Given the description of an element on the screen output the (x, y) to click on. 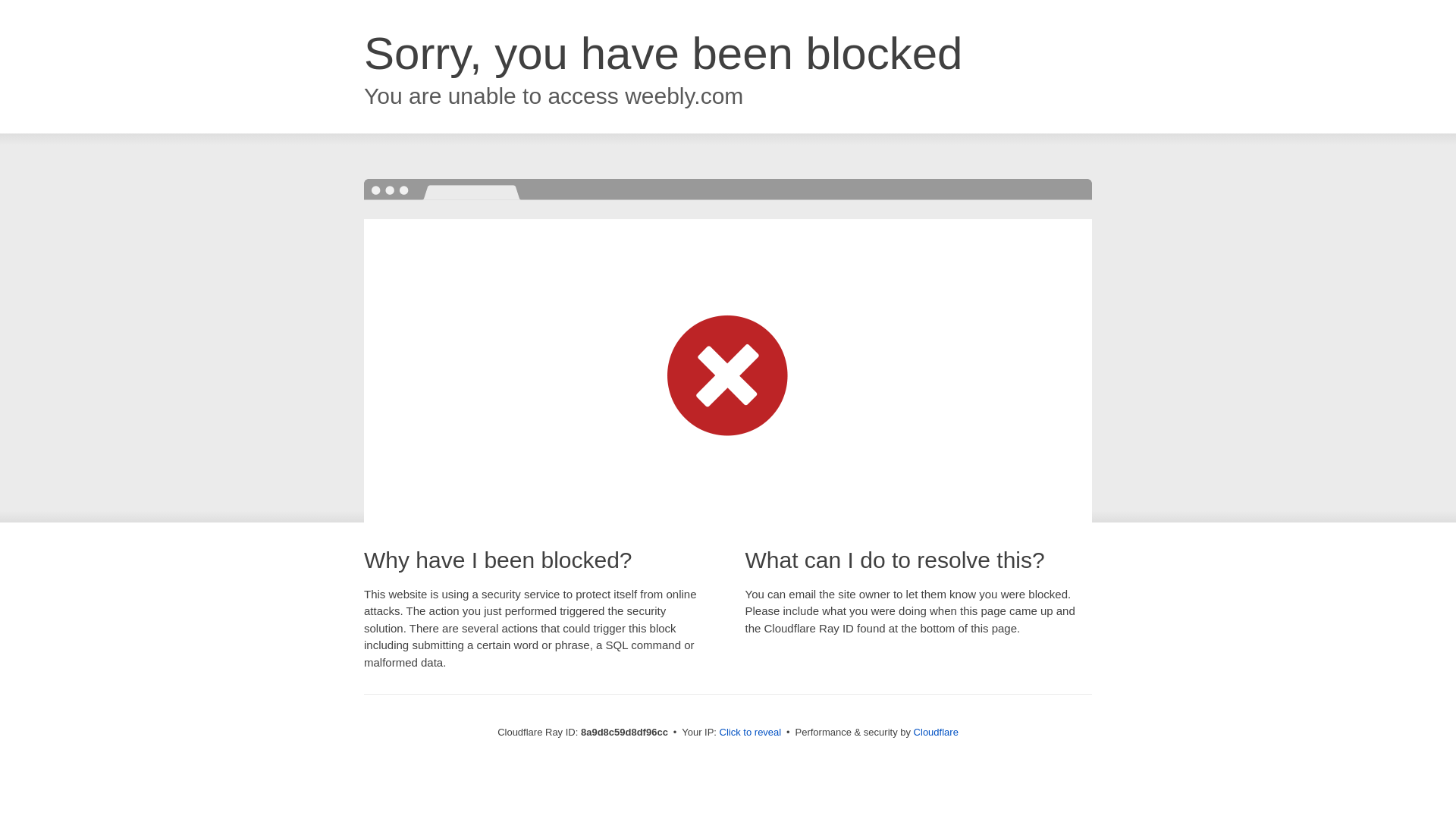
Click to reveal (750, 732)
Cloudflare (936, 731)
